Given the description of an element on the screen output the (x, y) to click on. 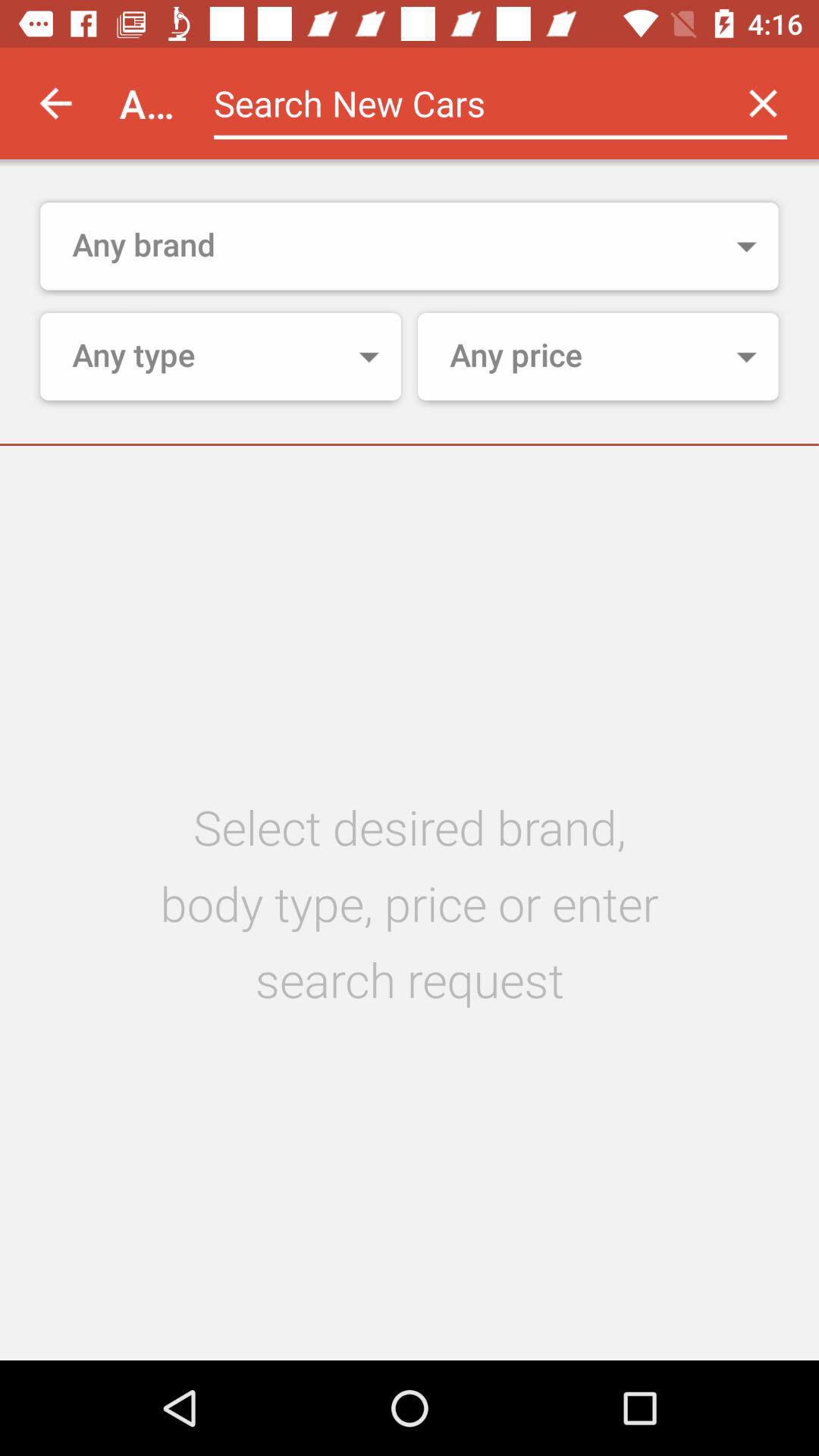
search text entry box (460, 103)
